Given the description of an element on the screen output the (x, y) to click on. 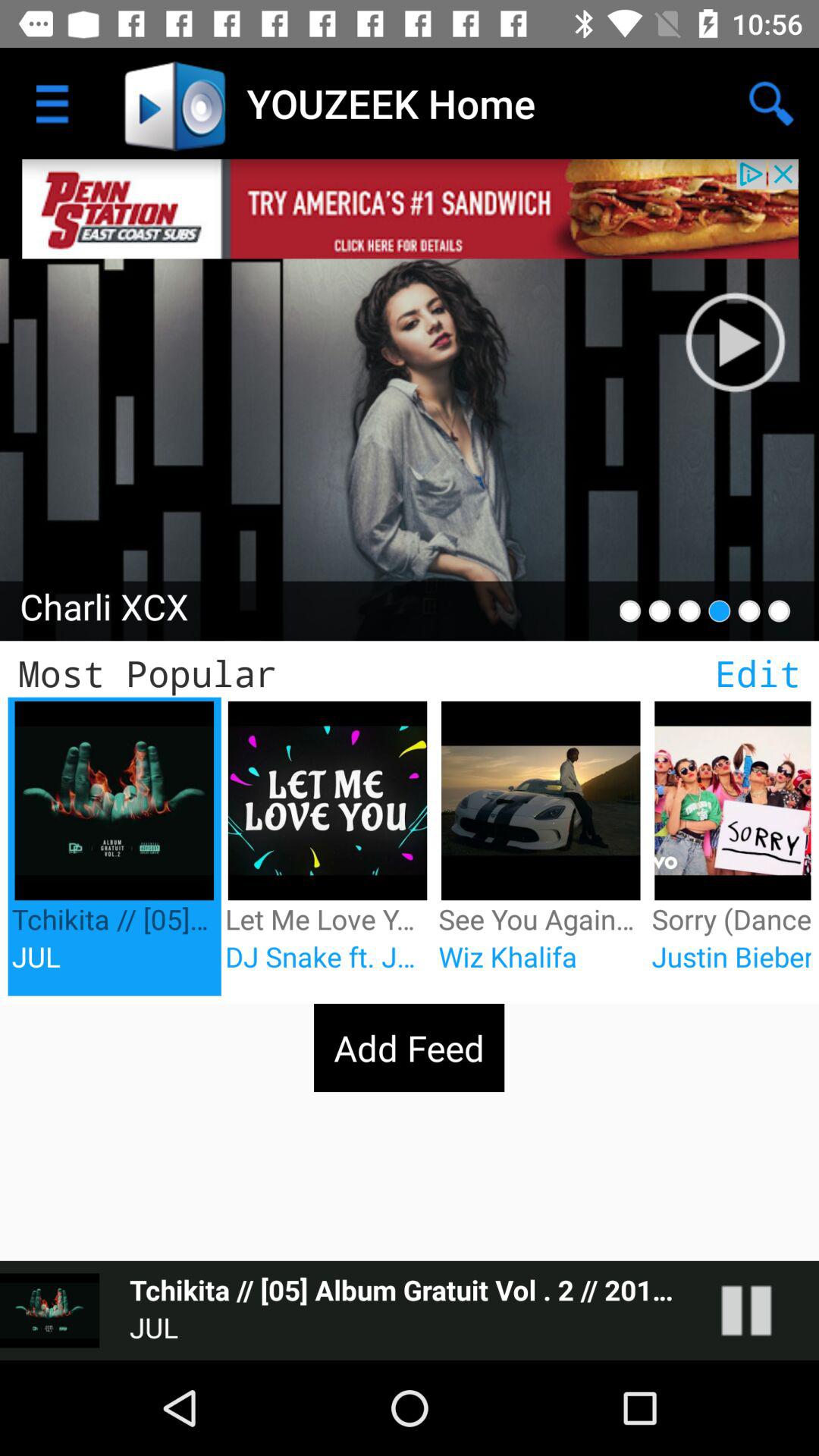
for play option (761, 1310)
